Given the description of an element on the screen output the (x, y) to click on. 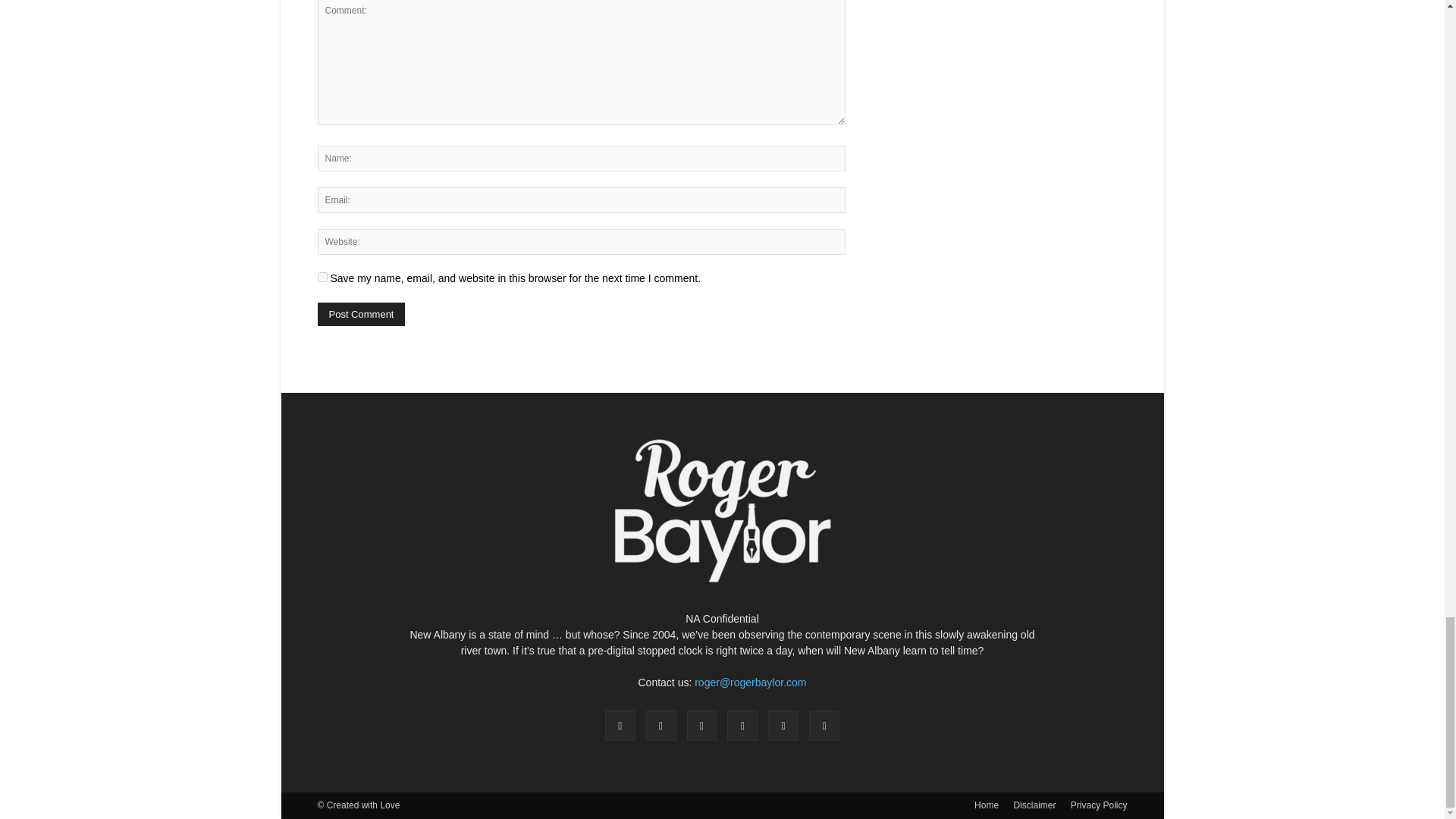
yes (321, 276)
Post Comment (360, 313)
